Given the description of an element on the screen output the (x, y) to click on. 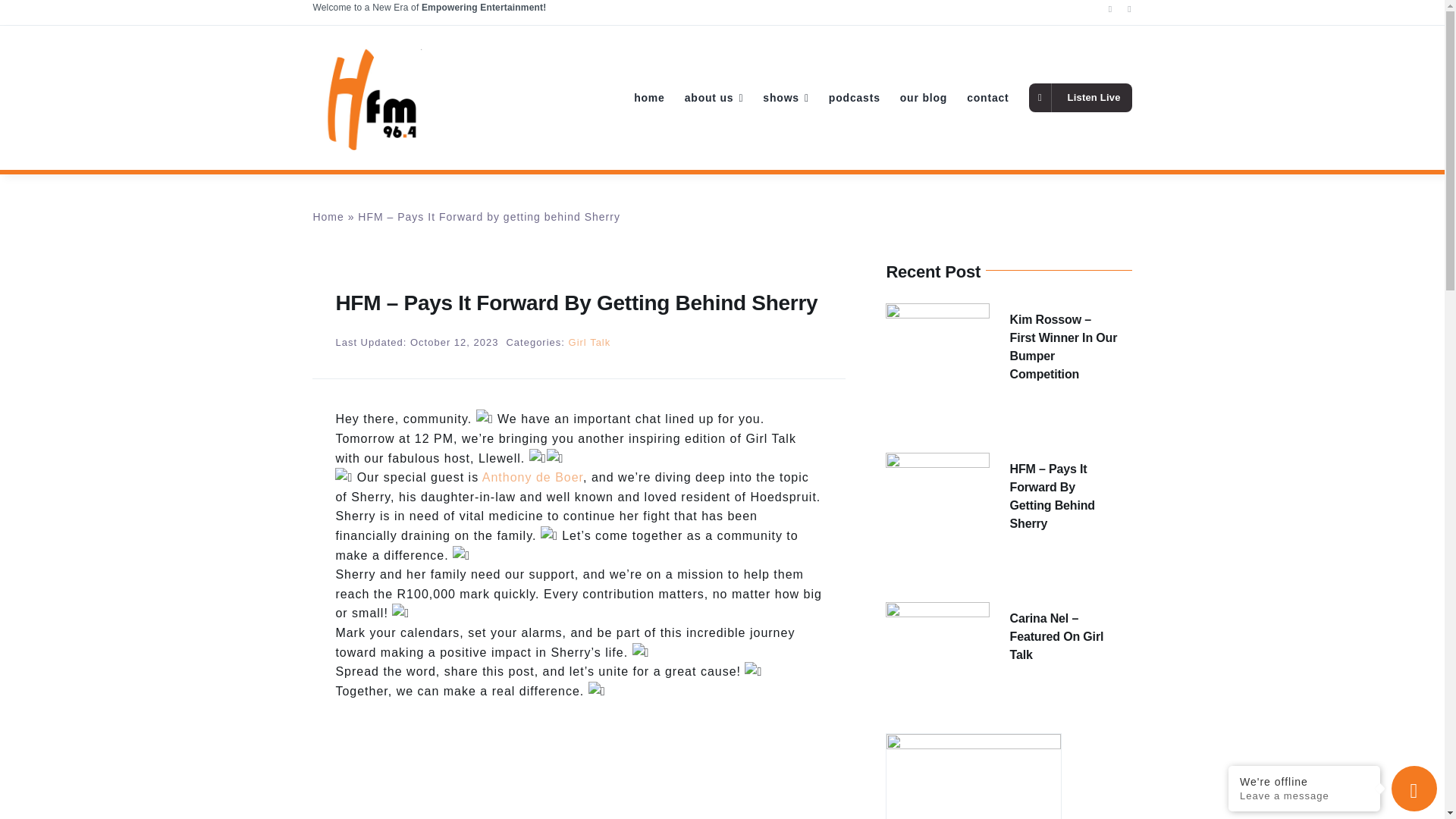
Girl Talk (590, 342)
Anthony de Boer (532, 477)
Leave a message (1304, 795)
soundcloud (578, 760)
We're offline (1304, 781)
about us (714, 97)
Listen Live (1080, 97)
our blog (923, 97)
shows (785, 97)
Home (328, 216)
